Given the description of an element on the screen output the (x, y) to click on. 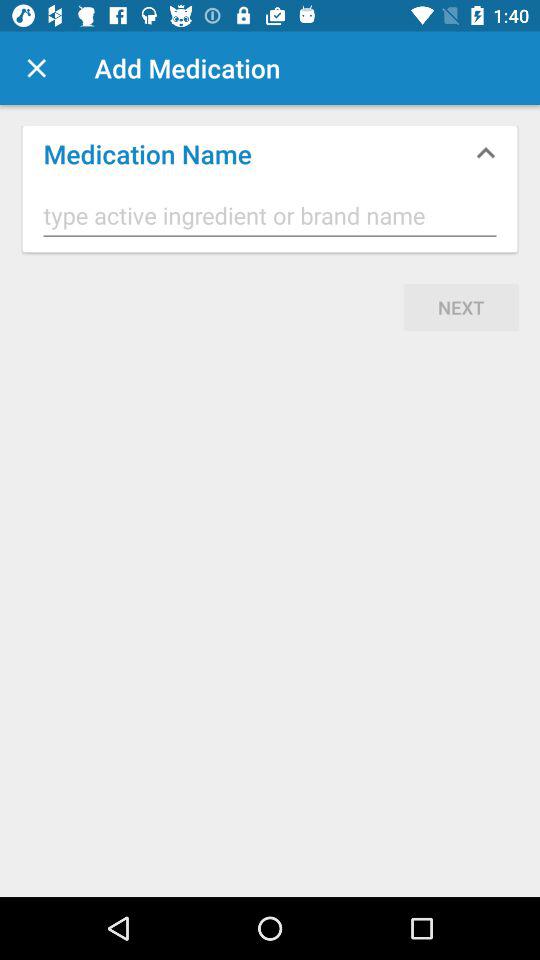
close button (36, 68)
